Given the description of an element on the screen output the (x, y) to click on. 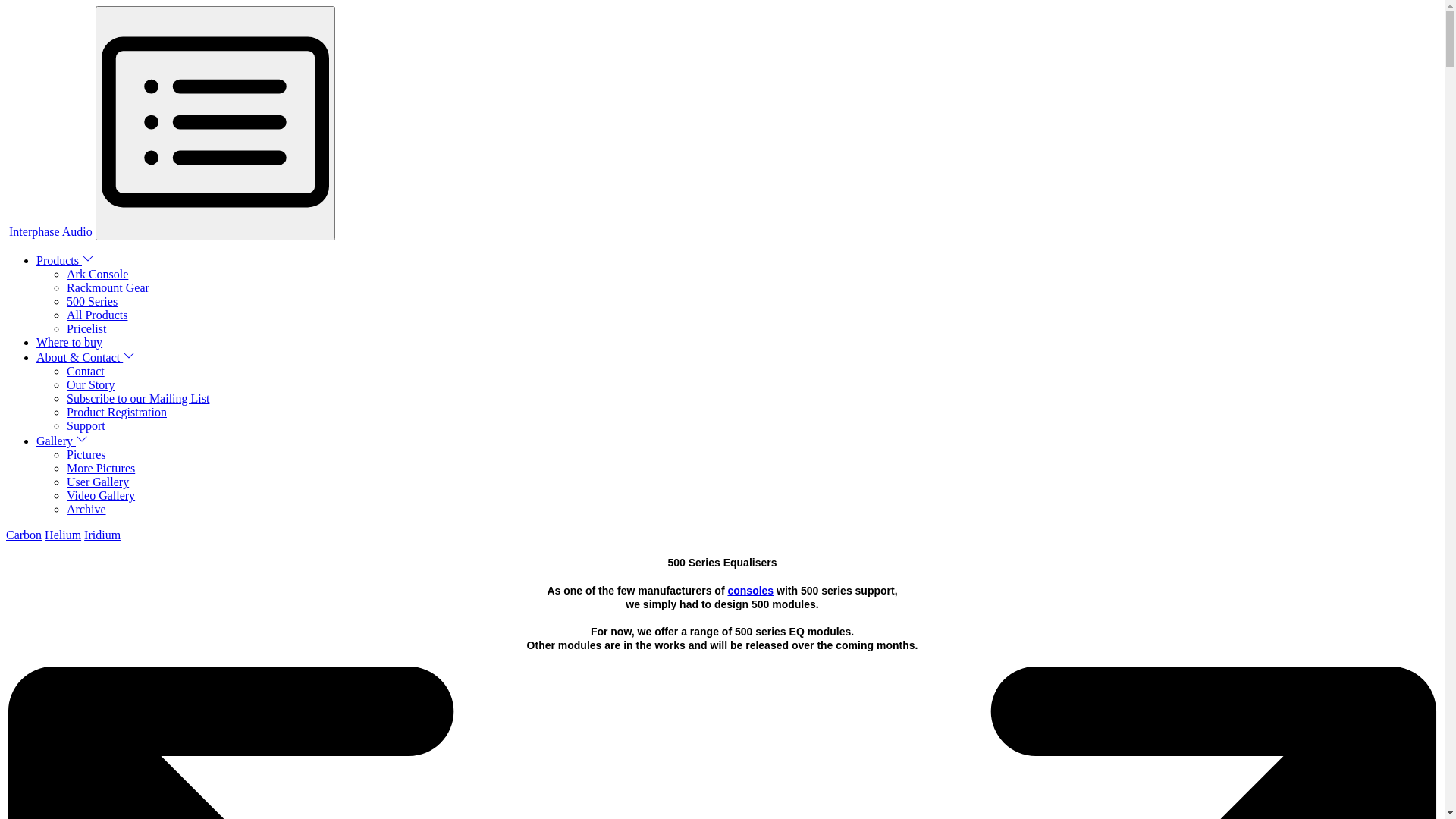
Ark Console Element type: text (97, 273)
Interphase Audio Element type: text (52, 231)
consoles Element type: text (750, 590)
More Pictures Element type: text (100, 467)
Products Element type: text (65, 260)
Contact Element type: text (85, 370)
Gallery Element type: text (61, 440)
All Products Element type: text (96, 314)
Helium Element type: text (62, 534)
Where to buy Element type: text (69, 341)
About & Contact Element type: text (85, 357)
Support Element type: text (85, 425)
Iridium Element type: text (102, 534)
User Gallery Element type: text (97, 481)
Pricelist Element type: text (86, 328)
Archive Element type: text (86, 508)
500 Series Element type: text (91, 300)
Rackmount Gear Element type: text (107, 287)
Subscribe to our Mailing List Element type: text (137, 398)
Product Registration Element type: text (116, 411)
Pictures Element type: text (86, 454)
Carbon Element type: text (23, 534)
Our Story Element type: text (90, 384)
Video Gallery Element type: text (100, 495)
